Given the description of an element on the screen output the (x, y) to click on. 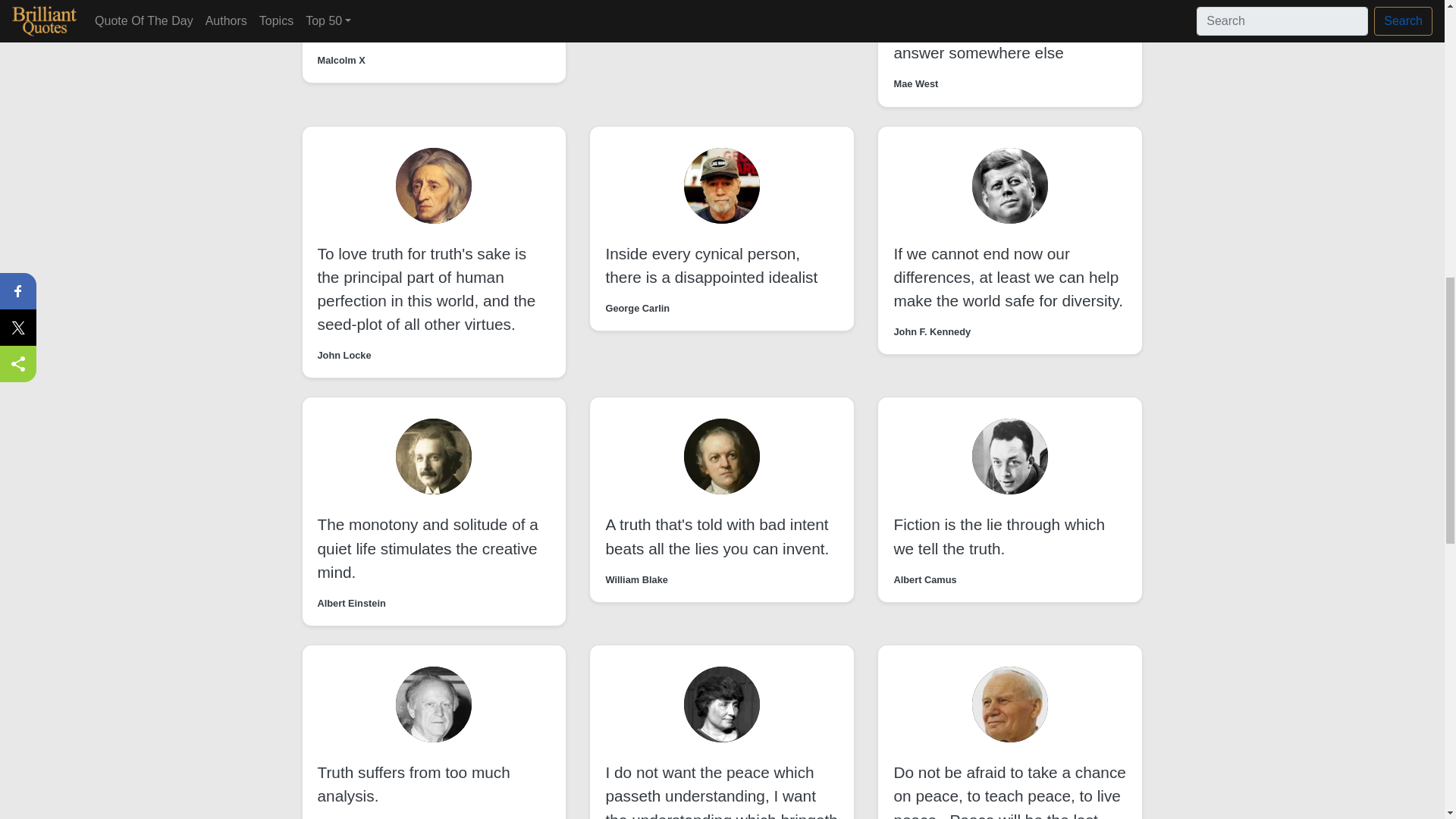
Truth is on the side of the oppressed. (406, 18)
John F. Kennedy (932, 331)
John Locke (344, 355)
George Carlin (637, 308)
Albert Einstein (351, 603)
Mae West (915, 83)
Malcolm X (341, 60)
